Given the description of an element on the screen output the (x, y) to click on. 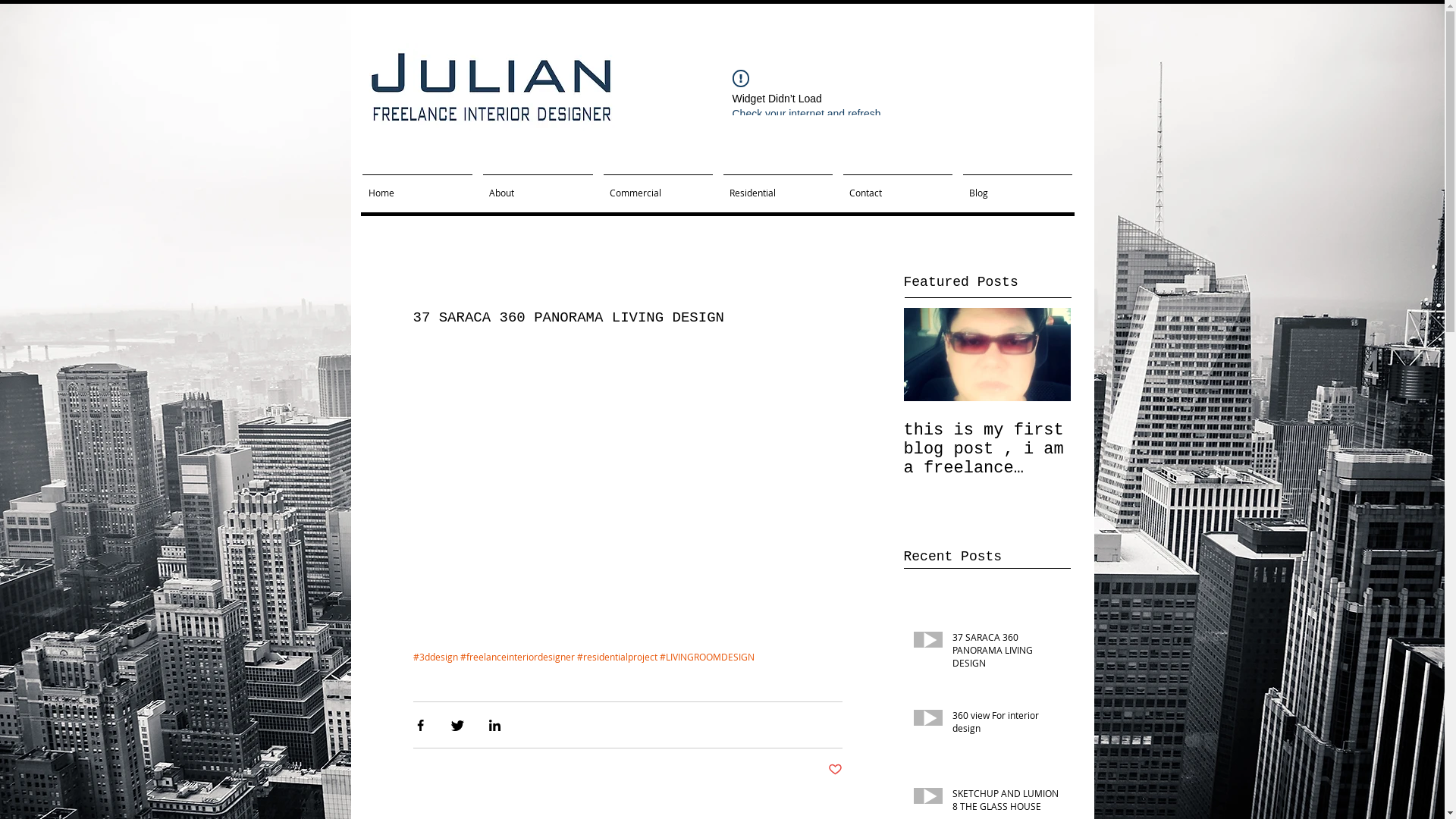
360 view For interior design Element type: text (1006, 724)
About Element type: text (537, 185)
Contact Element type: text (897, 185)
#freelanceinteriordesigner Element type: text (516, 656)
Blog Element type: text (1016, 185)
Home Element type: text (416, 185)
37 SARACA 360 PANORAMA LIVING DESIGN Element type: text (1006, 652)
#LIVINGROOMDESIGN Element type: text (706, 656)
Residential Element type: text (777, 185)
Post not marked as liked Element type: text (835, 770)
Commercial Element type: text (657, 185)
#residentialproject Element type: text (616, 656)
#3ddesign Element type: text (434, 656)
